Given the description of an element on the screen output the (x, y) to click on. 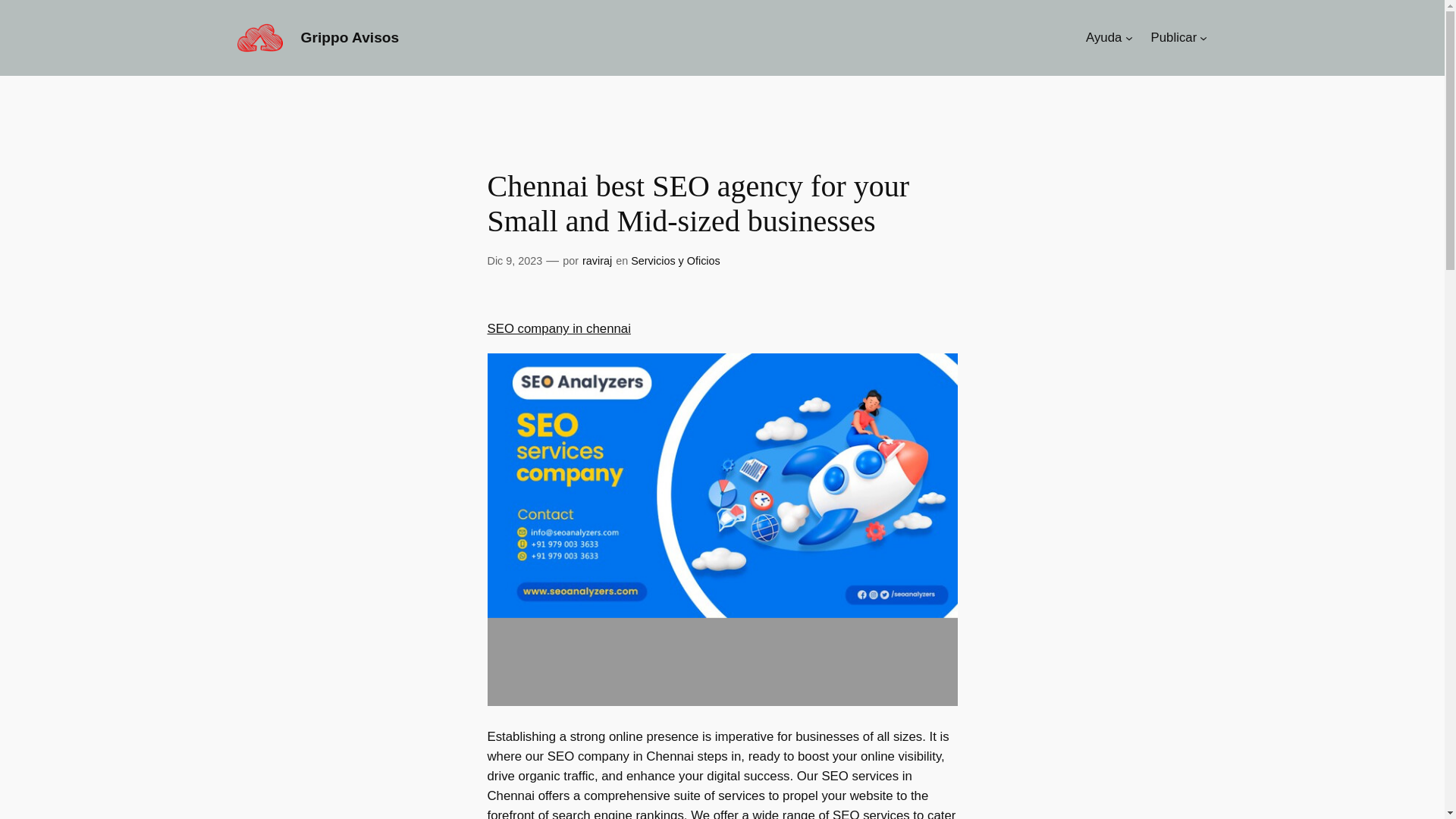
Publicar (1173, 37)
Ayuda (1103, 37)
Dic 9, 2023 (513, 260)
Servicios y Oficios (675, 260)
Grippo Avisos (348, 37)
raviraj (596, 260)
SEO company in chennai (558, 328)
